Given the description of an element on the screen output the (x, y) to click on. 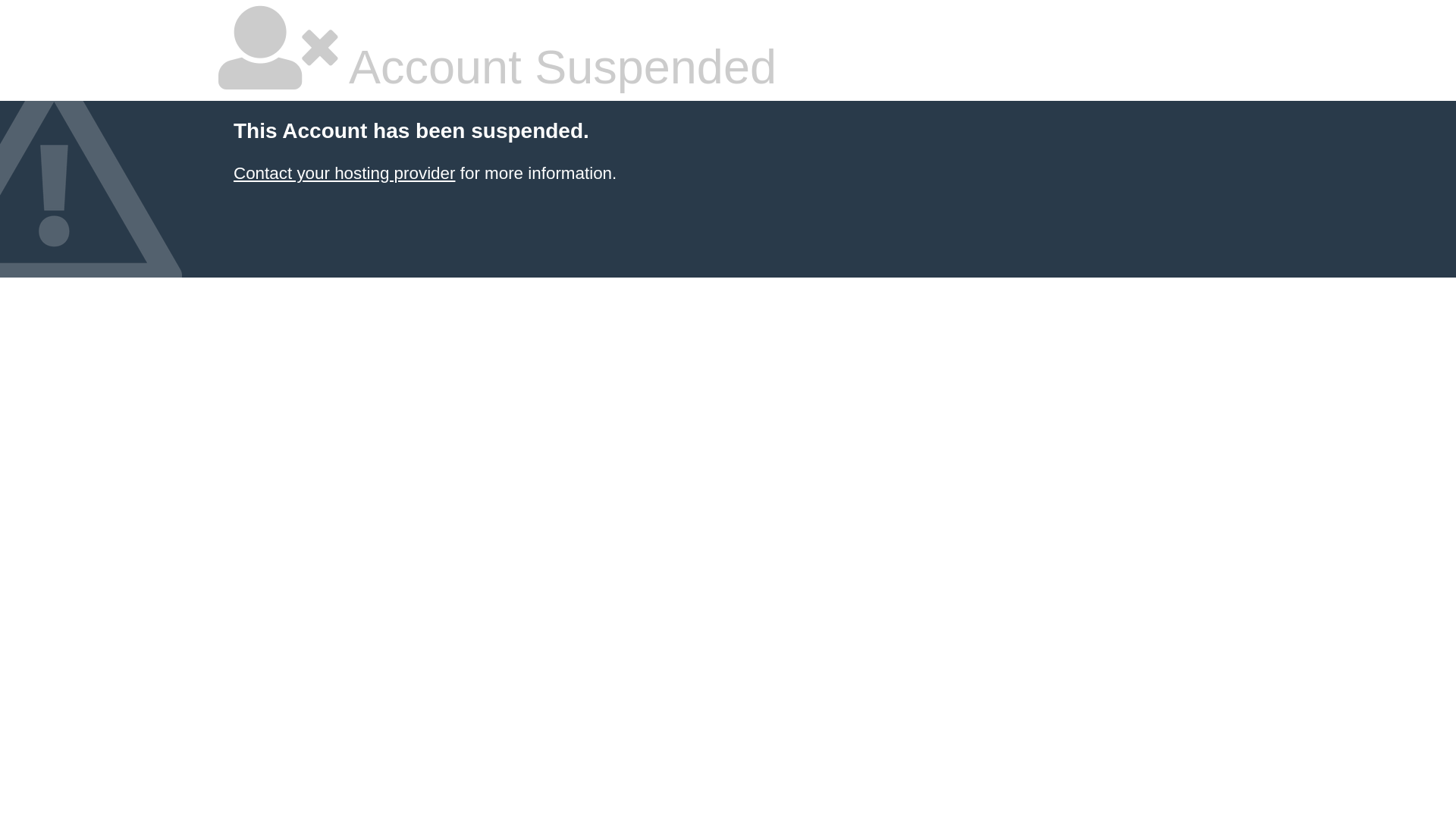
Contact your hosting provider Element type: text (344, 172)
